Given the description of an element on the screen output the (x, y) to click on. 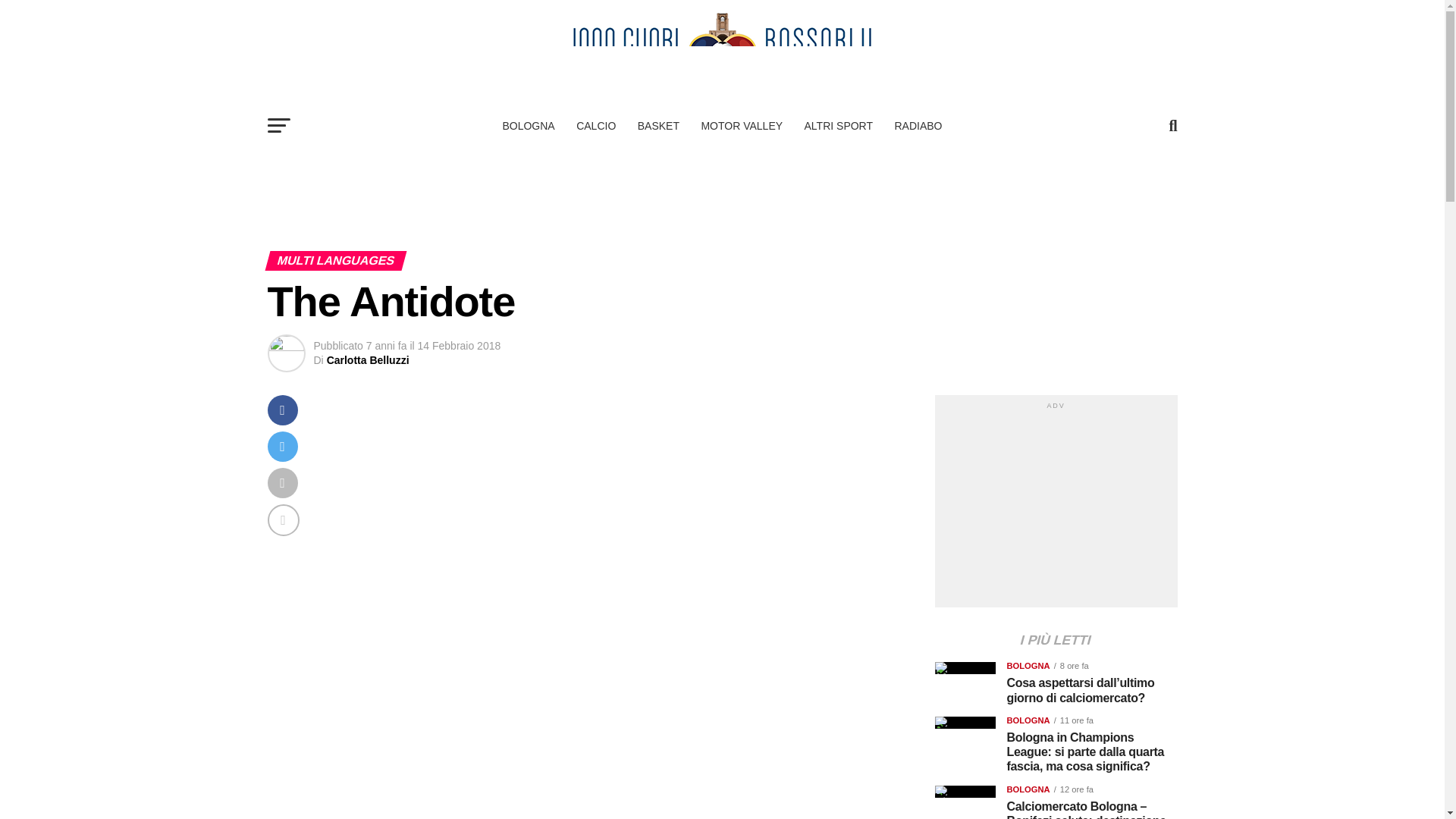
Articoli scritti da Carlotta Belluzzi (367, 359)
CALCIO (595, 125)
BASKET (658, 125)
BOLOGNA (528, 125)
